Given the description of an element on the screen output the (x, y) to click on. 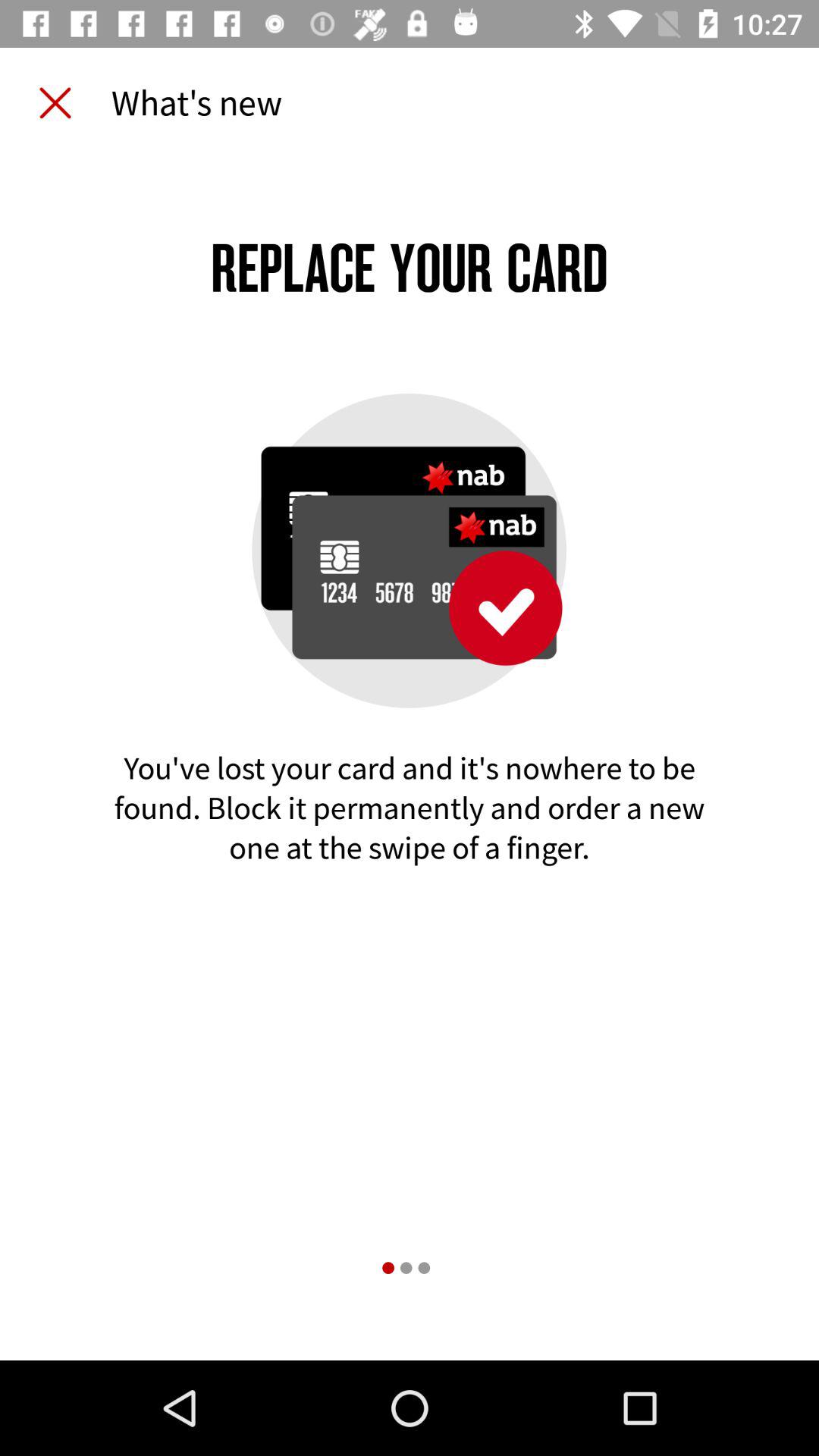
launch the icon to the left of what's new item (55, 103)
